Given the description of an element on the screen output the (x, y) to click on. 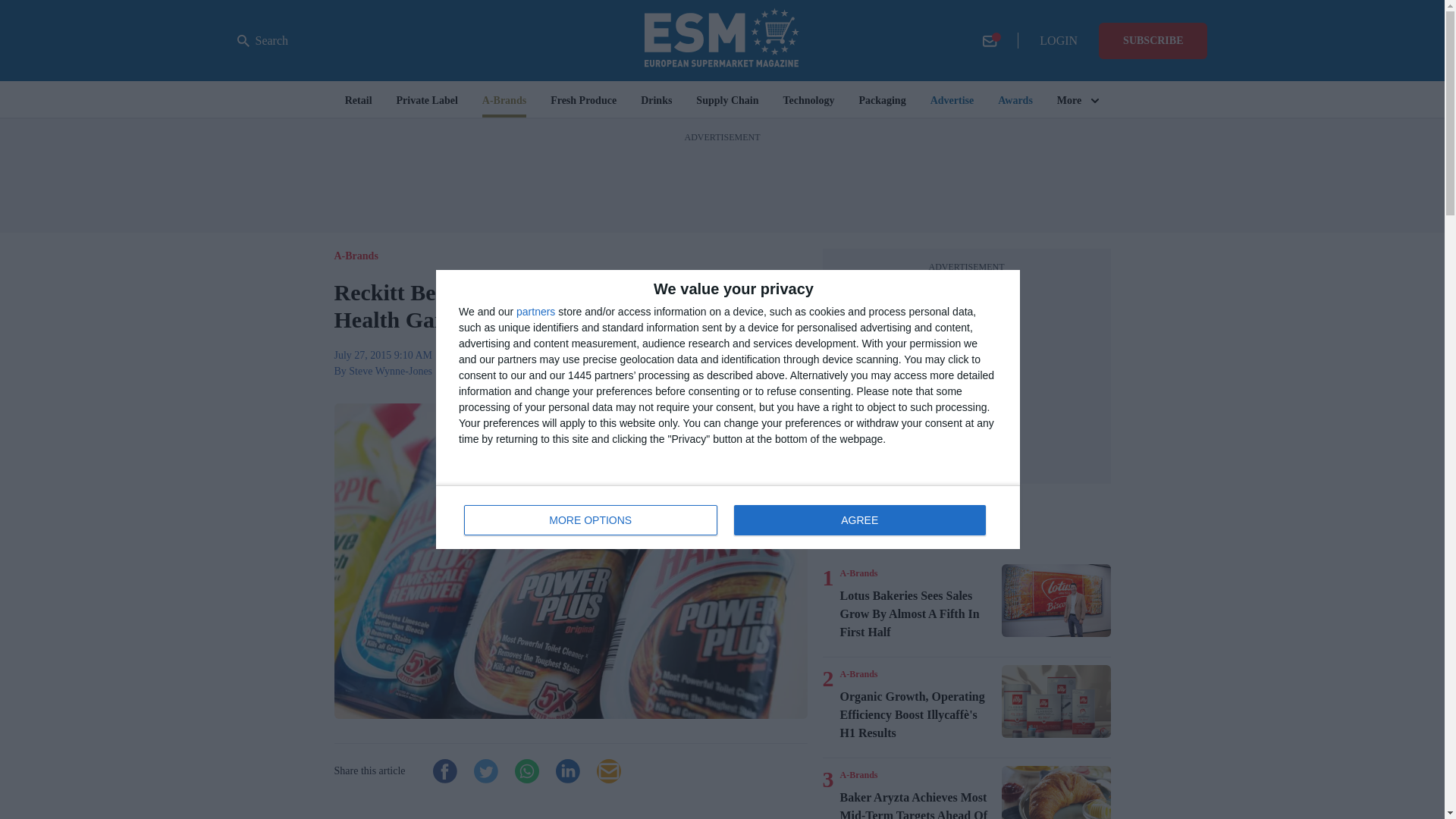
A-Brands (727, 516)
A-Brands (858, 573)
A-Brands (858, 775)
